Given the description of an element on the screen output the (x, y) to click on. 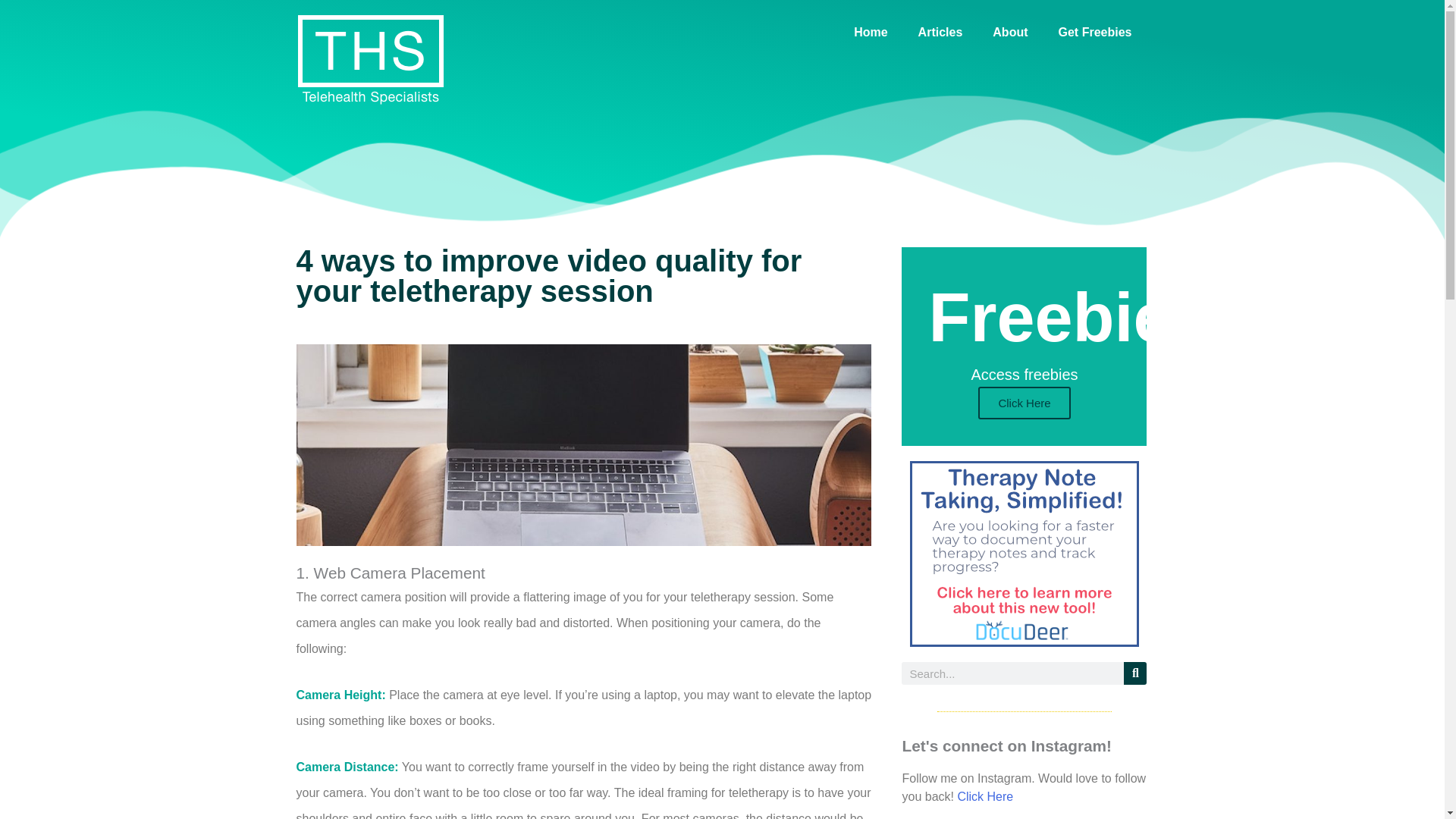
Articles (940, 32)
Click Here (1024, 402)
Search (1135, 672)
Let's connect on Instagram! (1006, 745)
Get Freebies (1095, 32)
Teletherapy Web Camera Setup (582, 444)
About (1009, 32)
Home (870, 32)
Click Here (984, 796)
